Given the description of an element on the screen output the (x, y) to click on. 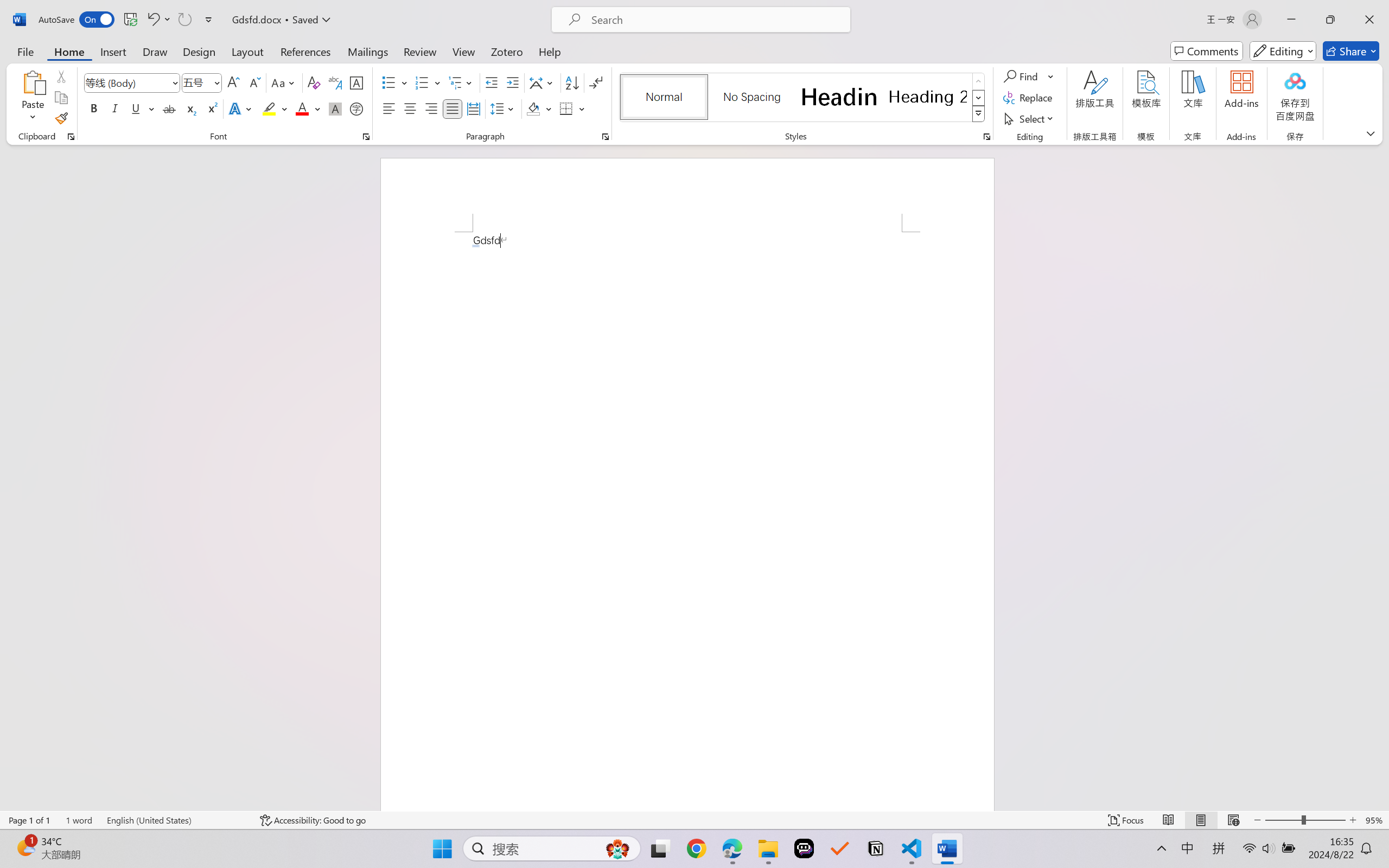
Increase Indent (512, 82)
AutomationID: QuickStylesGallery (802, 97)
Text Effects and Typography (241, 108)
Paragraph... (605, 136)
Italic (115, 108)
Asian Layout (542, 82)
Bold (94, 108)
